Given the description of an element on the screen output the (x, y) to click on. 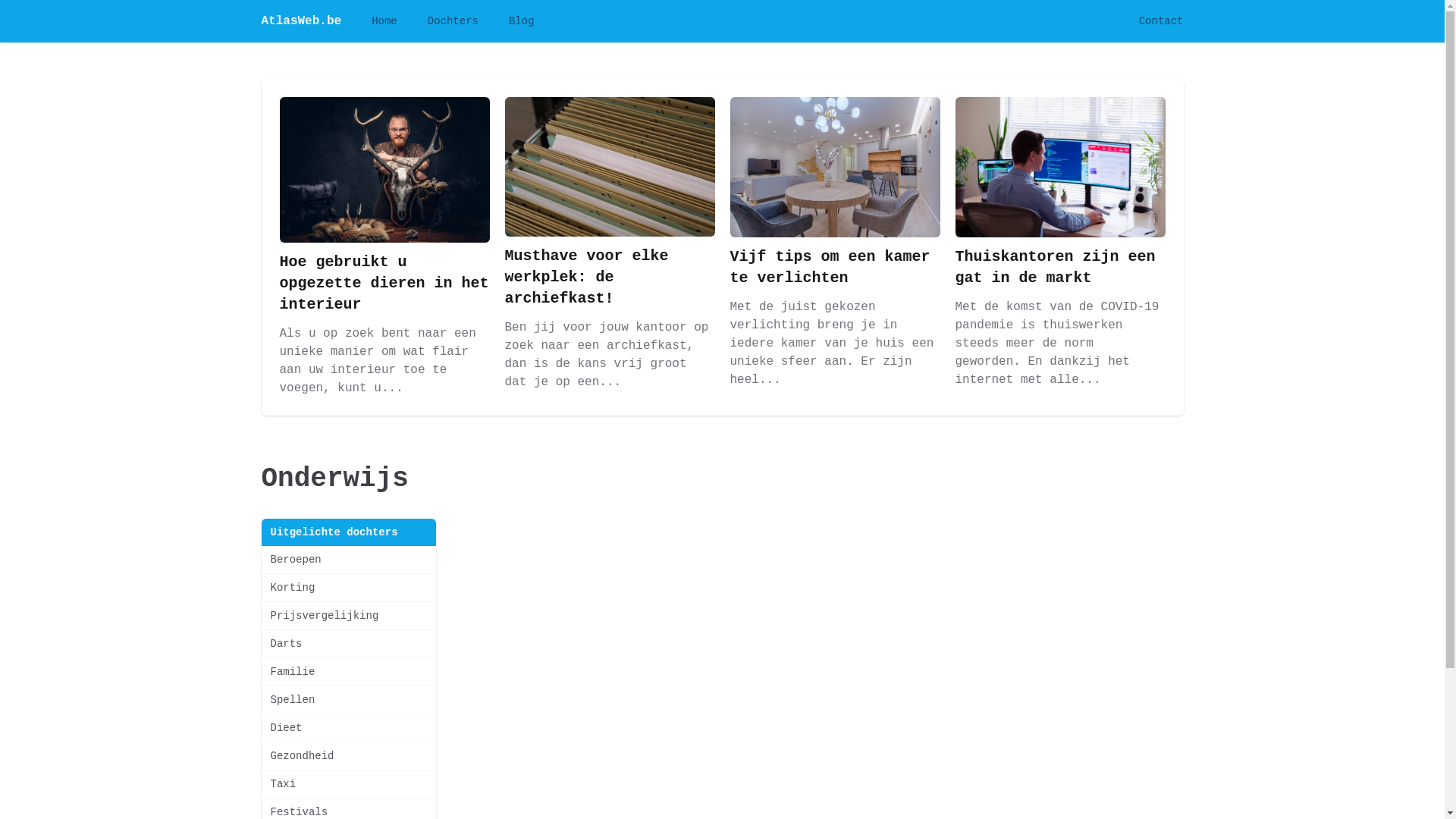
Dochters Element type: text (452, 20)
Prijsvergelijking Element type: text (347, 615)
Blog Element type: text (521, 20)
Contact Element type: text (1161, 20)
Beroepen Element type: text (347, 559)
Familie Element type: text (347, 671)
Dieet Element type: text (347, 727)
Taxi Element type: text (347, 783)
Gezondheid Element type: text (347, 755)
Darts Element type: text (347, 643)
AtlasWeb.be Element type: text (300, 21)
Spellen Element type: text (347, 699)
Home Element type: text (384, 20)
Korting Element type: text (347, 587)
